Given the description of an element on the screen output the (x, y) to click on. 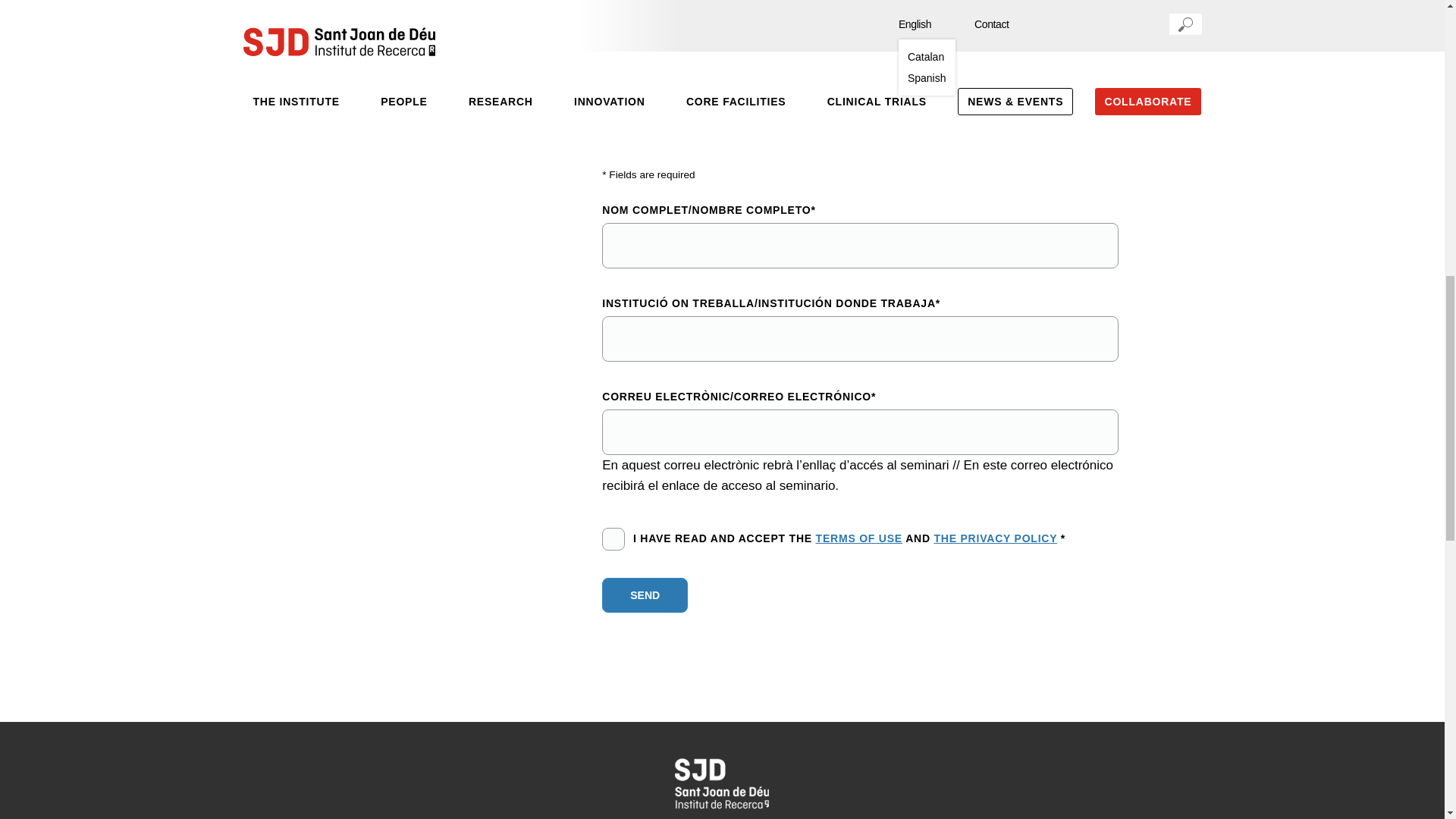
THE PRIVACY POLICY (995, 538)
1 (613, 538)
SEND (644, 595)
TERMS OF USE (858, 538)
